Given the description of an element on the screen output the (x, y) to click on. 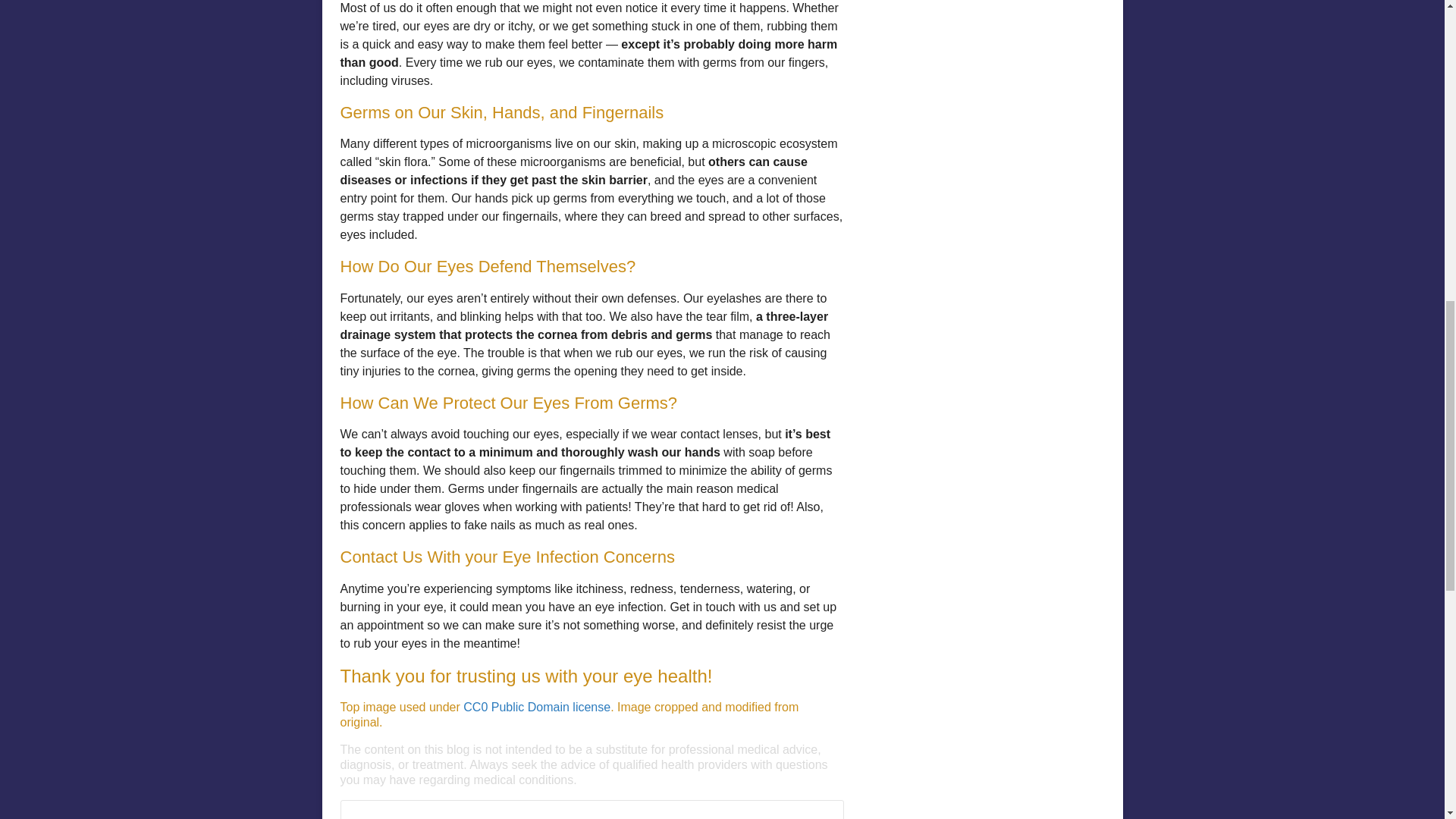
CC0 Public Domain license (536, 707)
